Given the description of an element on the screen output the (x, y) to click on. 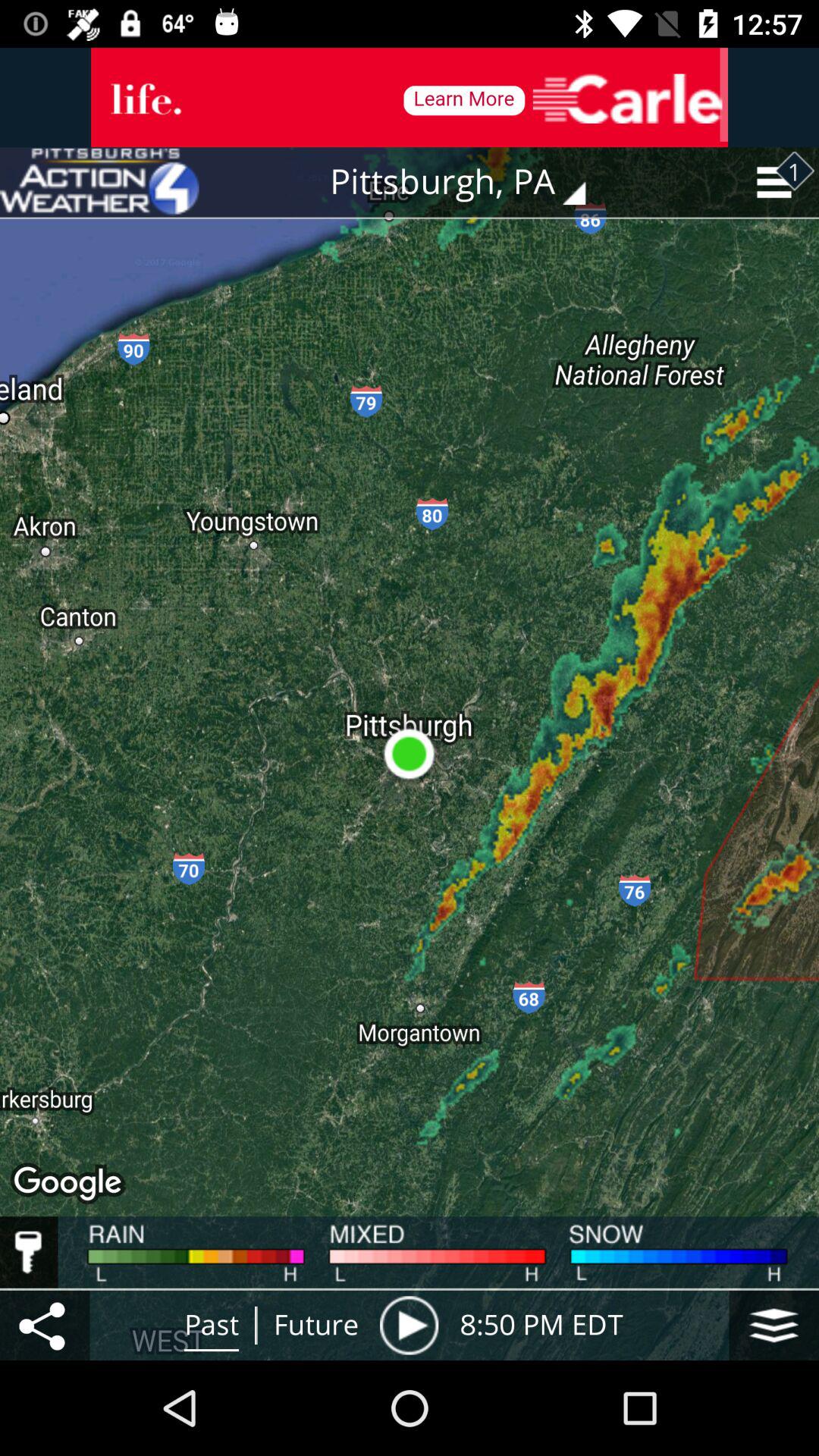
select the item next to the past item (44, 1325)
